Given the description of an element on the screen output the (x, y) to click on. 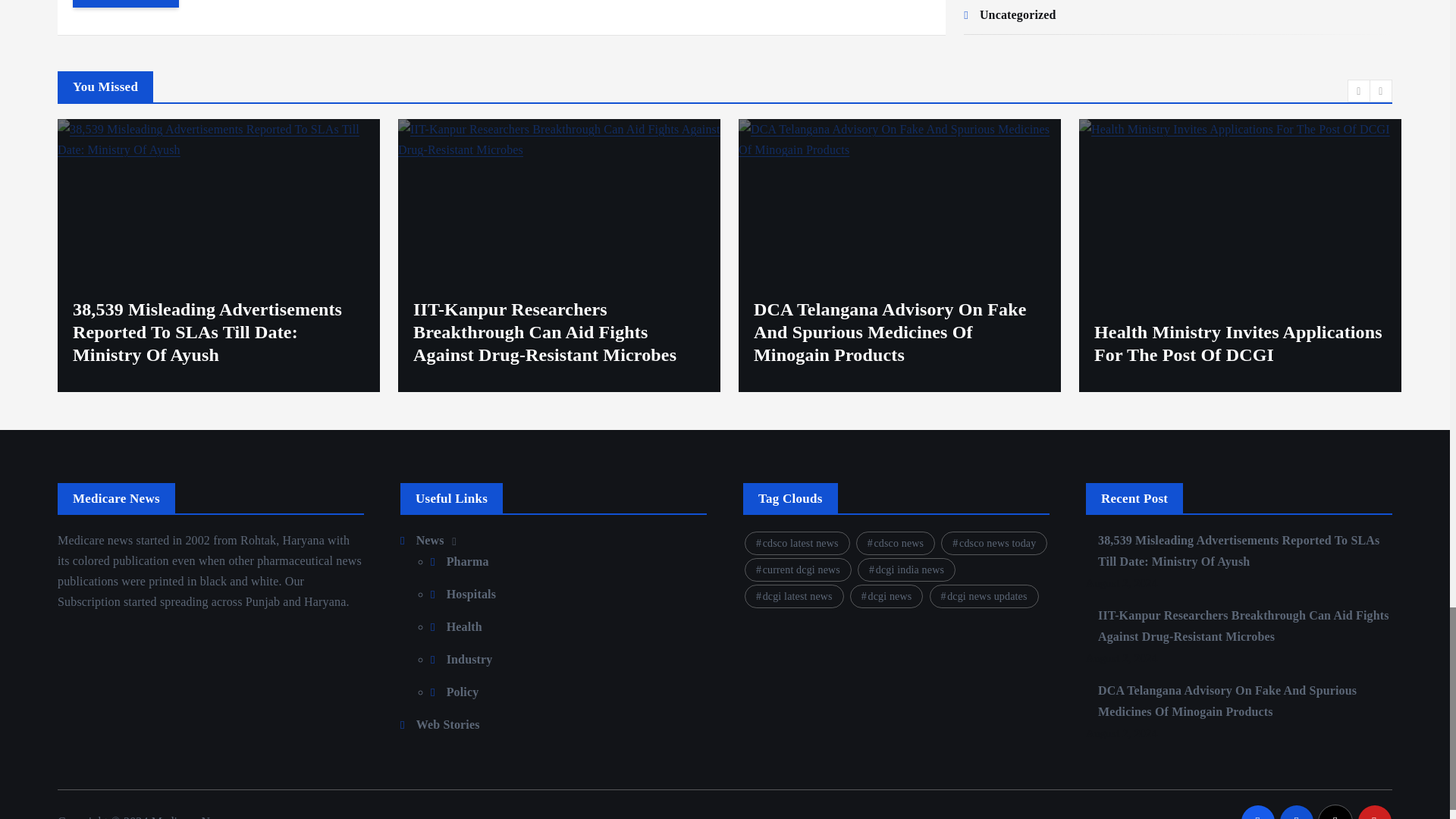
Post Comment (125, 3)
